Given the description of an element on the screen output the (x, y) to click on. 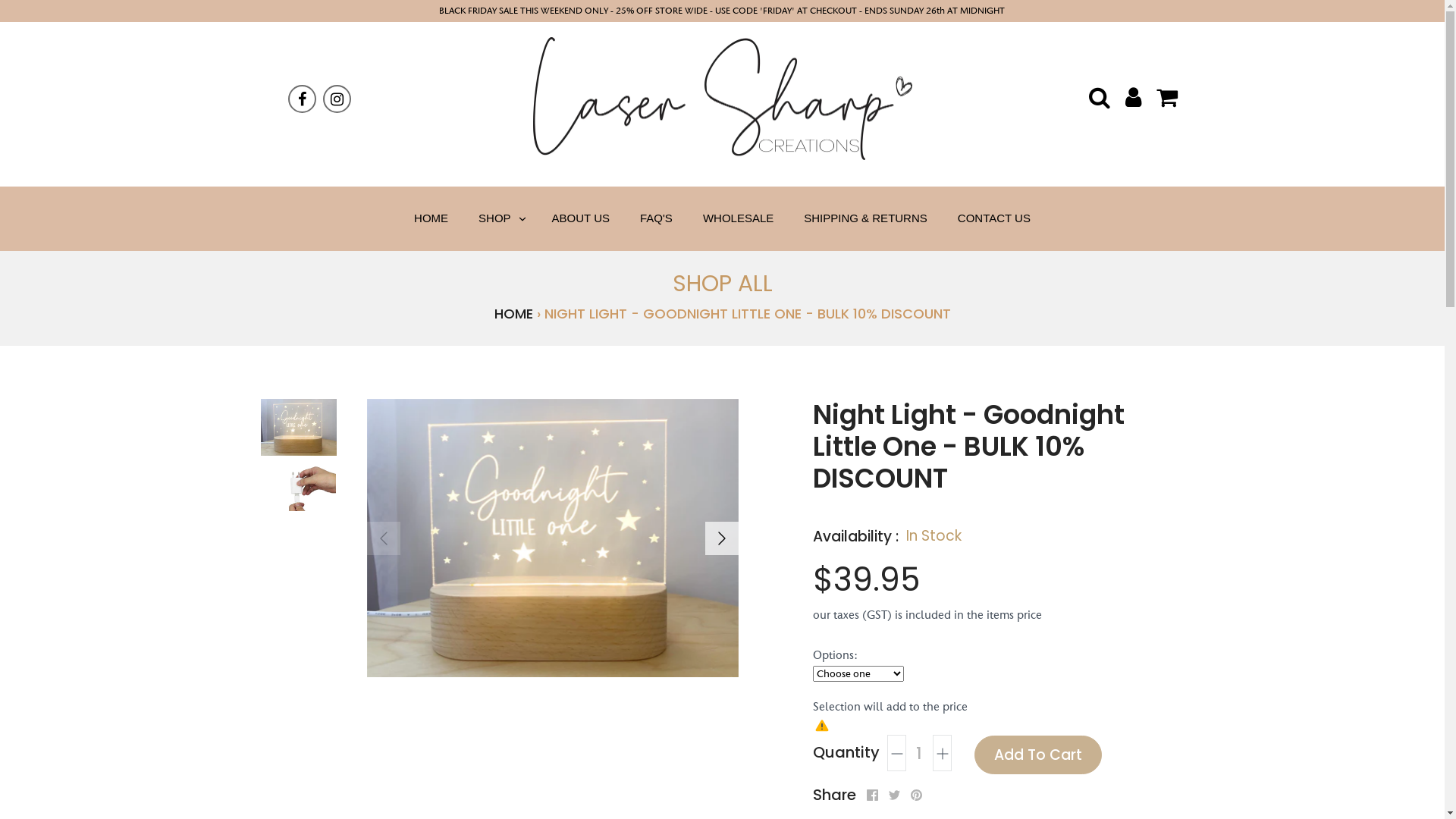
HOME Element type: text (513, 313)
HOME Element type: text (430, 218)
SHIPPING & RETURNS Element type: text (865, 218)
TOGGLE MENU Element type: text (522, 217)
FAQ'S Element type: text (656, 218)
WHOLESALE Element type: text (738, 218)
Minus Element type: text (896, 752)
ABOUT US Element type: text (580, 218)
Add to Cart Element type: text (1037, 754)
SHOP Element type: text (494, 218)
LEFT Element type: text (383, 538)
Twitter
Share on Twitter Element type: text (894, 794)
RIGHT Element type: text (721, 538)
Plus Element type: text (941, 752)
Laser Sharp Creations Element type: hover (721, 98)
Facebook
Share on Facebook Element type: text (871, 794)
Pinterest
Pin it Element type: text (915, 794)
CONTACT US Element type: text (994, 218)
